Given the description of an element on the screen output the (x, y) to click on. 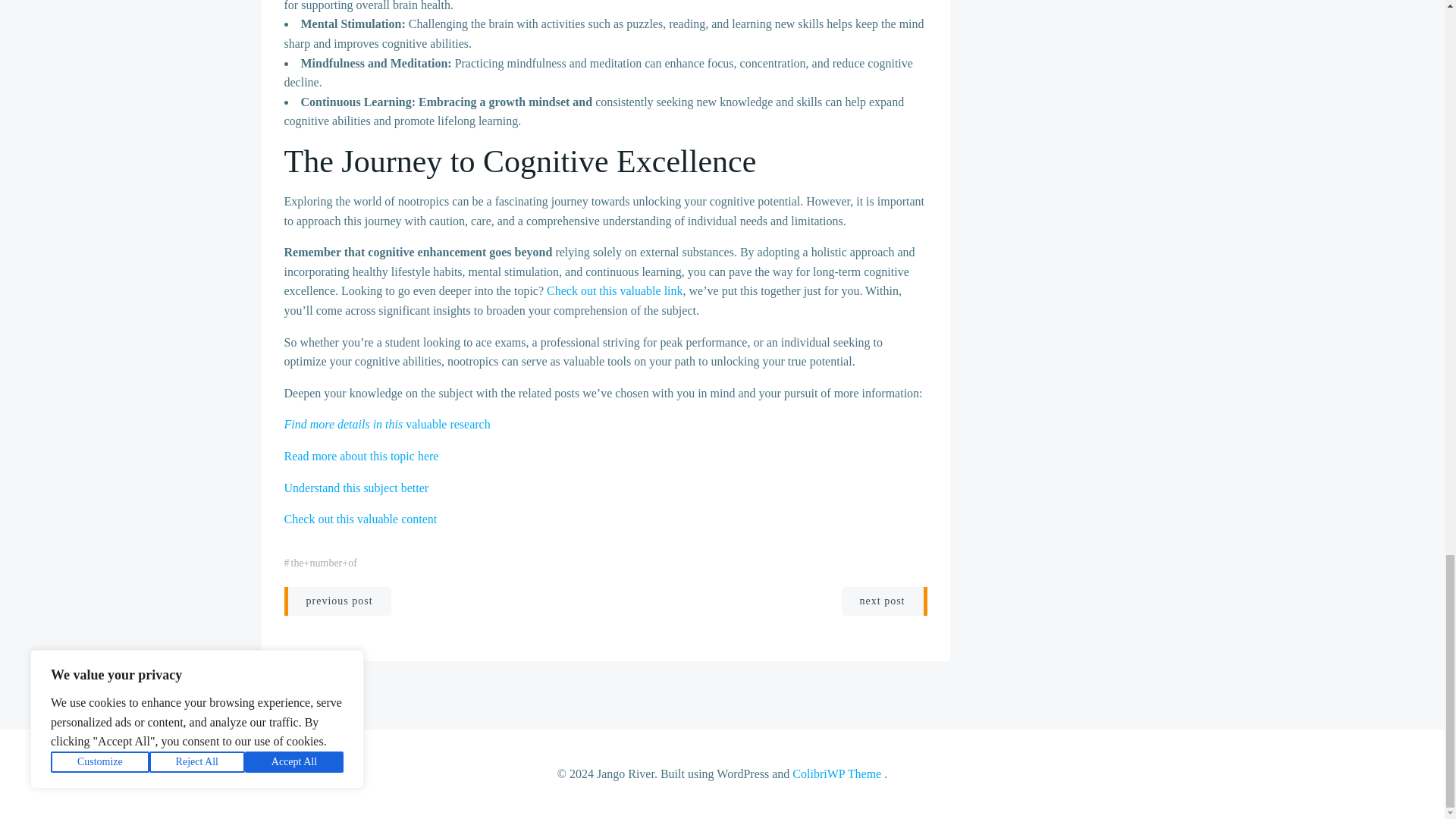
previous post (336, 601)
Check out this valuable link (614, 290)
Read more about this topic here (360, 455)
next post (884, 601)
Check out this valuable content (359, 518)
Find more details in this valuable research (386, 423)
Understand this subject better (355, 486)
